Given the description of an element on the screen output the (x, y) to click on. 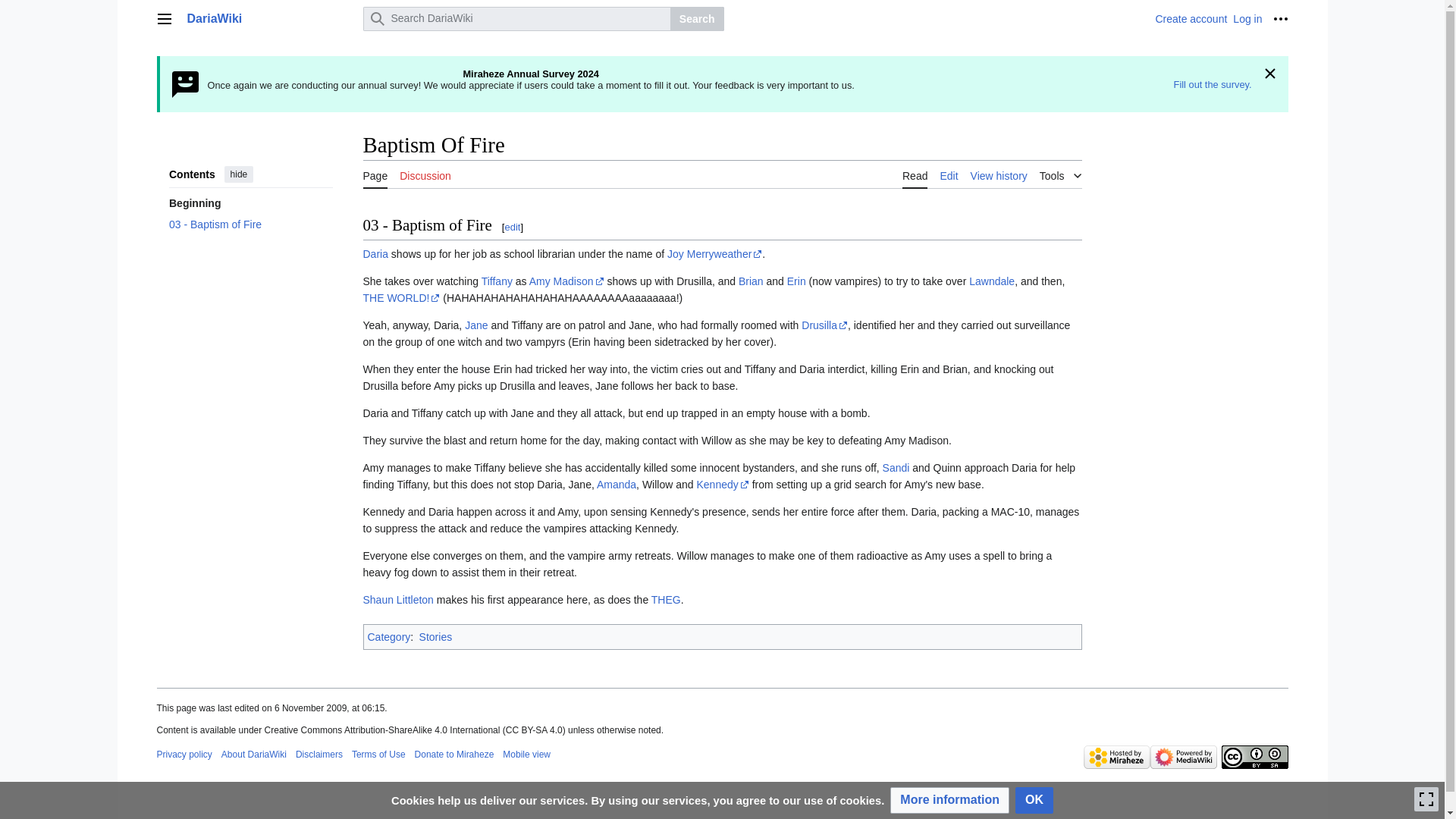
View history (999, 174)
Search (696, 18)
hide (238, 174)
Hide (1269, 74)
Fill out the survey. (1212, 84)
Read (914, 174)
03 - Baptism of Fire (249, 224)
Create account (1190, 19)
Log in (1247, 19)
DariaWiki (270, 18)
Beginning (249, 202)
Discussion (424, 174)
More options (1280, 18)
Page (374, 174)
